Given the description of an element on the screen output the (x, y) to click on. 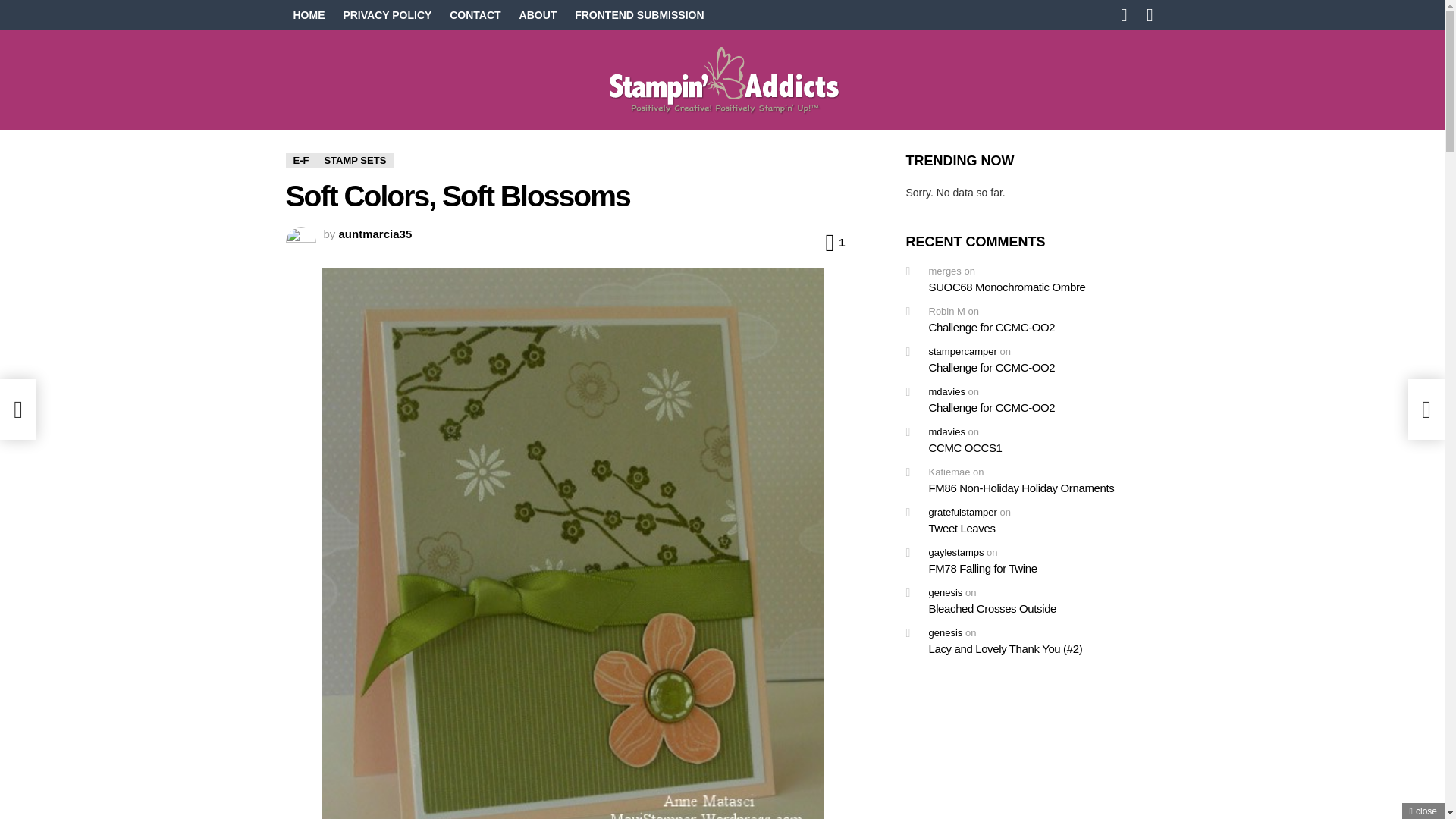
HOME (308, 15)
CONTACT (475, 15)
E-F (300, 160)
PRIVACY POLICY (386, 15)
FRONTEND SUBMISSION (639, 15)
Posts by auntmarcia35 (375, 233)
auntmarcia35 (375, 233)
STAMP SETS (354, 160)
ABOUT (538, 15)
